Given the description of an element on the screen output the (x, y) to click on. 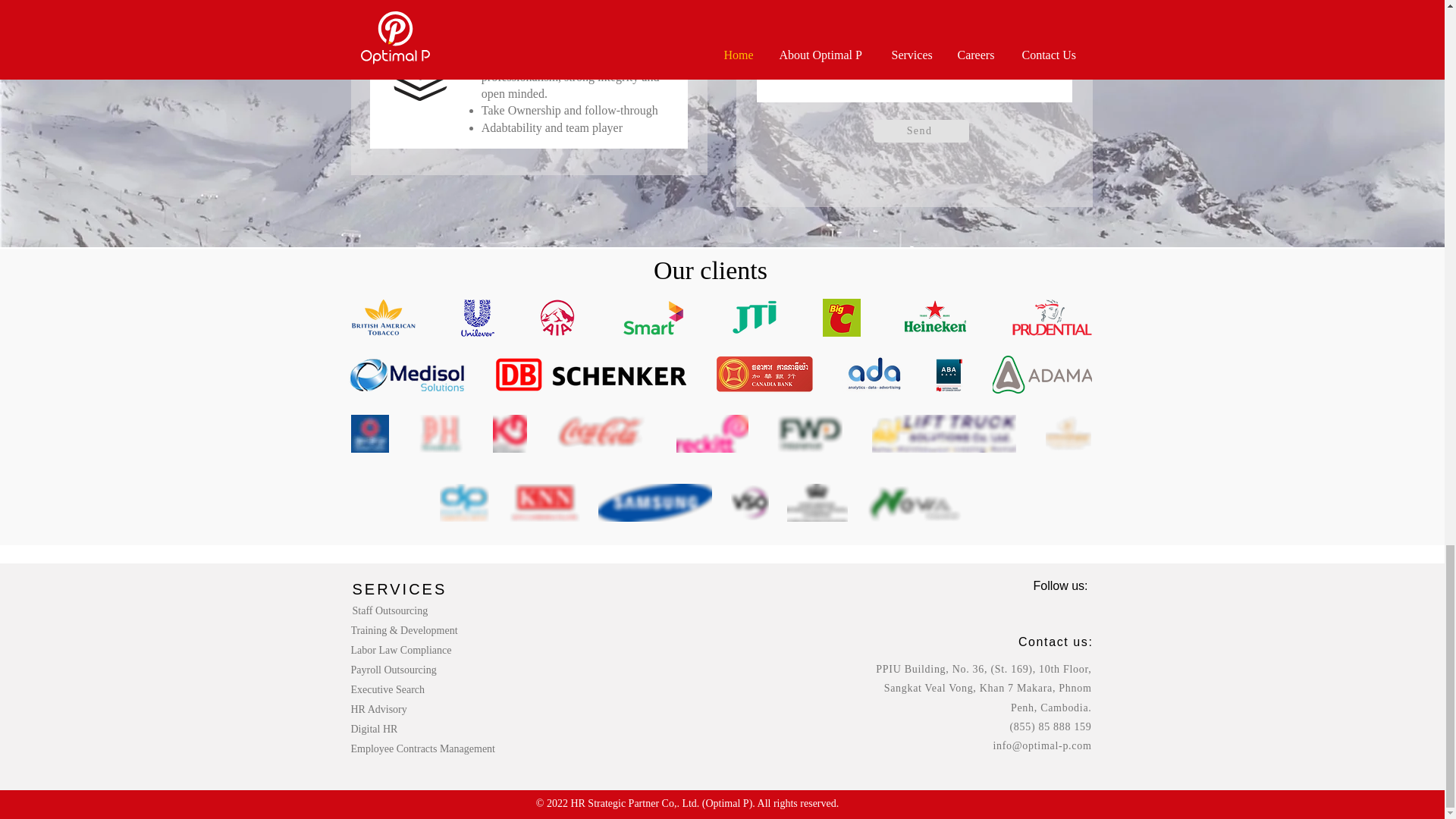
Staff Outsourcing (412, 610)
Prudential.png (1050, 317)
Send (921, 130)
medisol-logo.png (406, 374)
SERVICES (399, 588)
Smart.png (652, 317)
Unilever.png (476, 317)
AIA.png (557, 317)
JTI.png (753, 317)
